Given the description of an element on the screen output the (x, y) to click on. 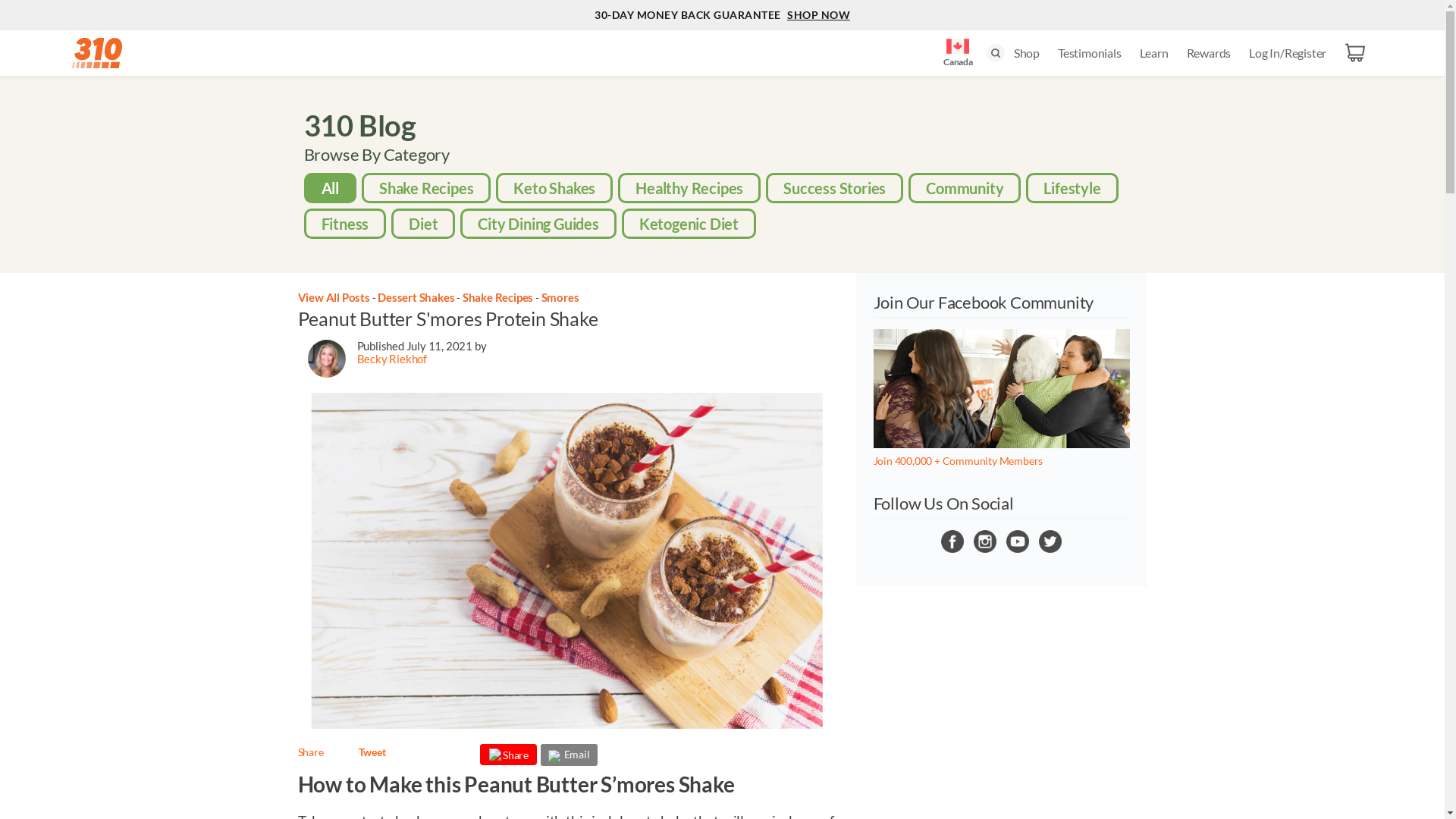
Fitness Element type: text (345, 223)
Log In/Register Element type: text (1287, 52)
310 Nutrition North America Element type: text (97, 52)
Share Element type: text (507, 757)
City Dining Guides Element type: text (537, 223)
Shake Recipes Element type: text (498, 297)
Healthy Recipes Element type: text (689, 187)
Shake Recipes Element type: text (425, 187)
Becky Riekhof Element type: text (391, 358)
30-DAY MONEY BACK GUARANTEE SHOP NOW Element type: text (722, 15)
Email Element type: text (567, 754)
Lifestyle Element type: text (1071, 187)
Search Element type: hover (995, 52)
Tweet Element type: text (371, 751)
Join 400,000 + Community Members Element type: text (958, 460)
Share Element type: text (310, 751)
Email Element type: text (569, 753)
Ketogenic Diet Element type: text (688, 223)
Shop Element type: text (1026, 52)
Rewards Element type: text (1208, 52)
Learn Element type: text (1153, 52)
Diet Element type: text (423, 223)
Community Element type: text (964, 187)
Share Element type: text (507, 754)
Cart1 Element type: hover (1355, 52)
Testimonials Element type: text (1089, 52)
Smores Element type: text (560, 297)
Success Stories Element type: text (834, 187)
All Element type: text (330, 187)
Canada Element type: text (957, 48)
Keto Shakes Element type: text (553, 187)
View All Posts Element type: text (333, 297)
Dessert Shakes Element type: text (416, 297)
